Given the description of an element on the screen output the (x, y) to click on. 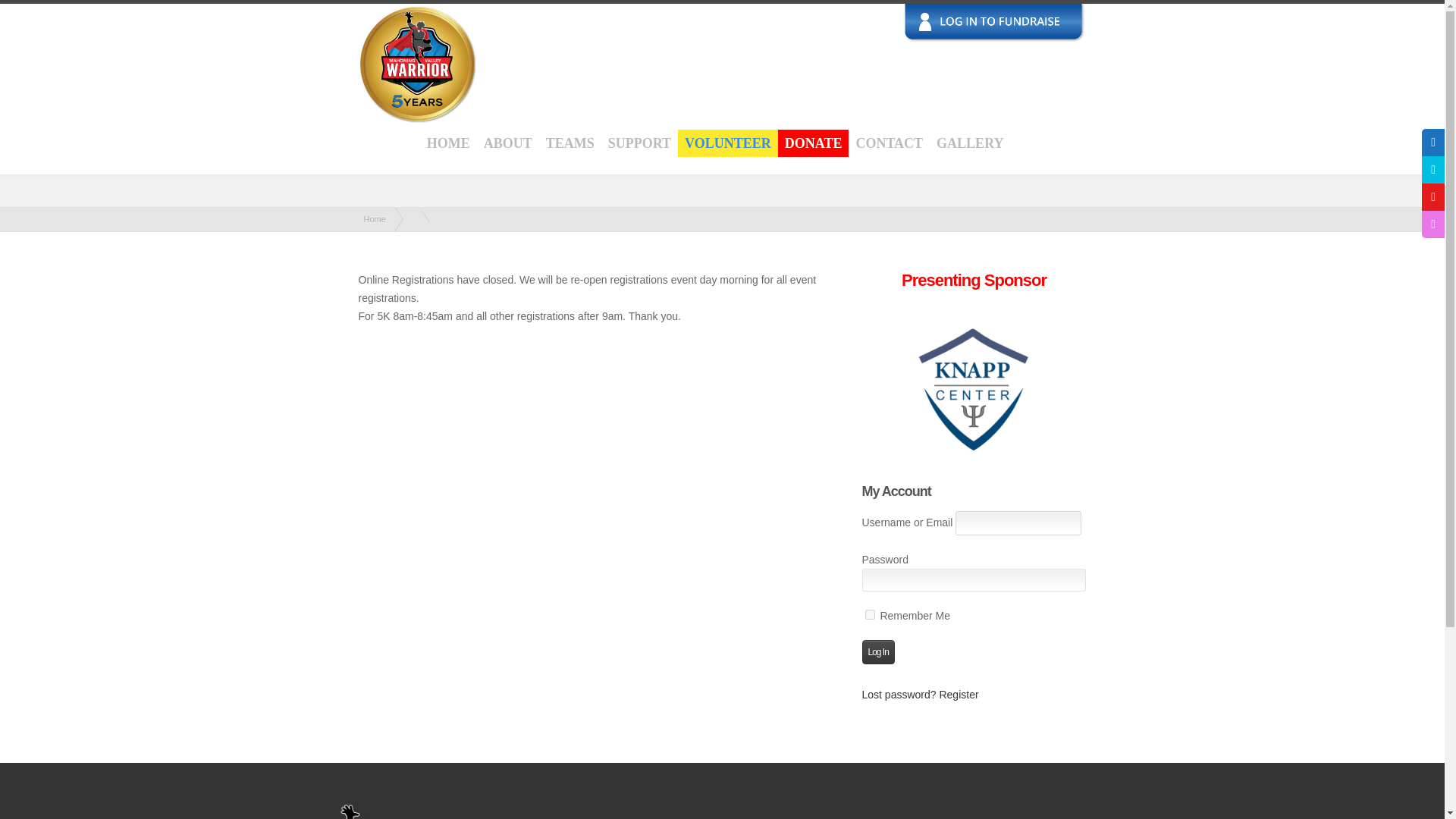
GALLERY (969, 142)
Lost password? (898, 694)
Register (958, 694)
DONATE (813, 142)
Register (958, 694)
VOLUNTEER (727, 142)
Log In (877, 651)
HOME (448, 142)
forever (869, 614)
Home (374, 218)
TEAMS (570, 142)
Log In (877, 651)
ABOUT (507, 142)
CONTACT (889, 142)
SUPPORT (639, 142)
